Given the description of an element on the screen output the (x, y) to click on. 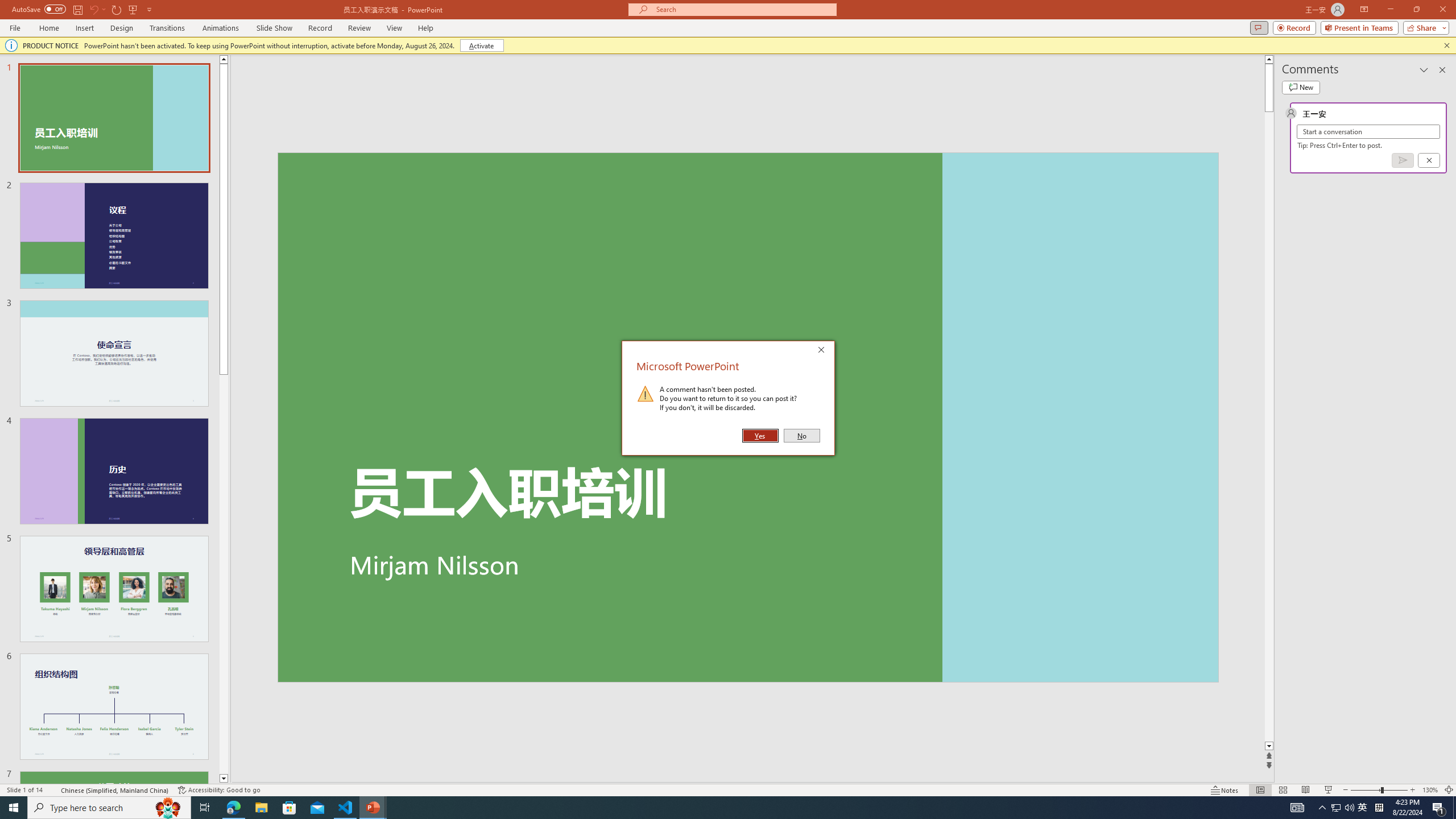
PowerPoint - 2 running windows (373, 807)
Zoom 130% (1430, 790)
